Given the description of an element on the screen output the (x, y) to click on. 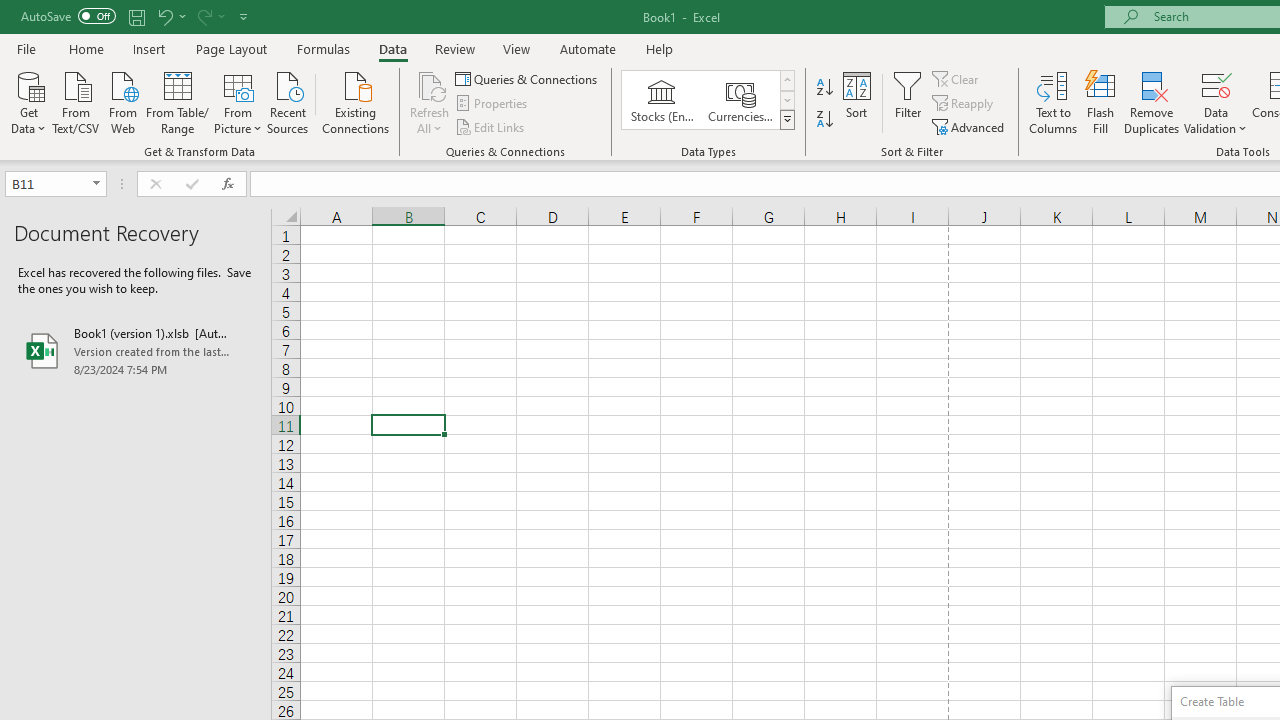
Currencies (English) (740, 100)
From Table/Range (177, 101)
Save (136, 15)
Home (86, 48)
File Tab (26, 48)
Class: NetUIImage (787, 119)
Row Down (786, 100)
Sort... (856, 102)
Existing Connections (355, 101)
Data Types (786, 120)
